Given the description of an element on the screen output the (x, y) to click on. 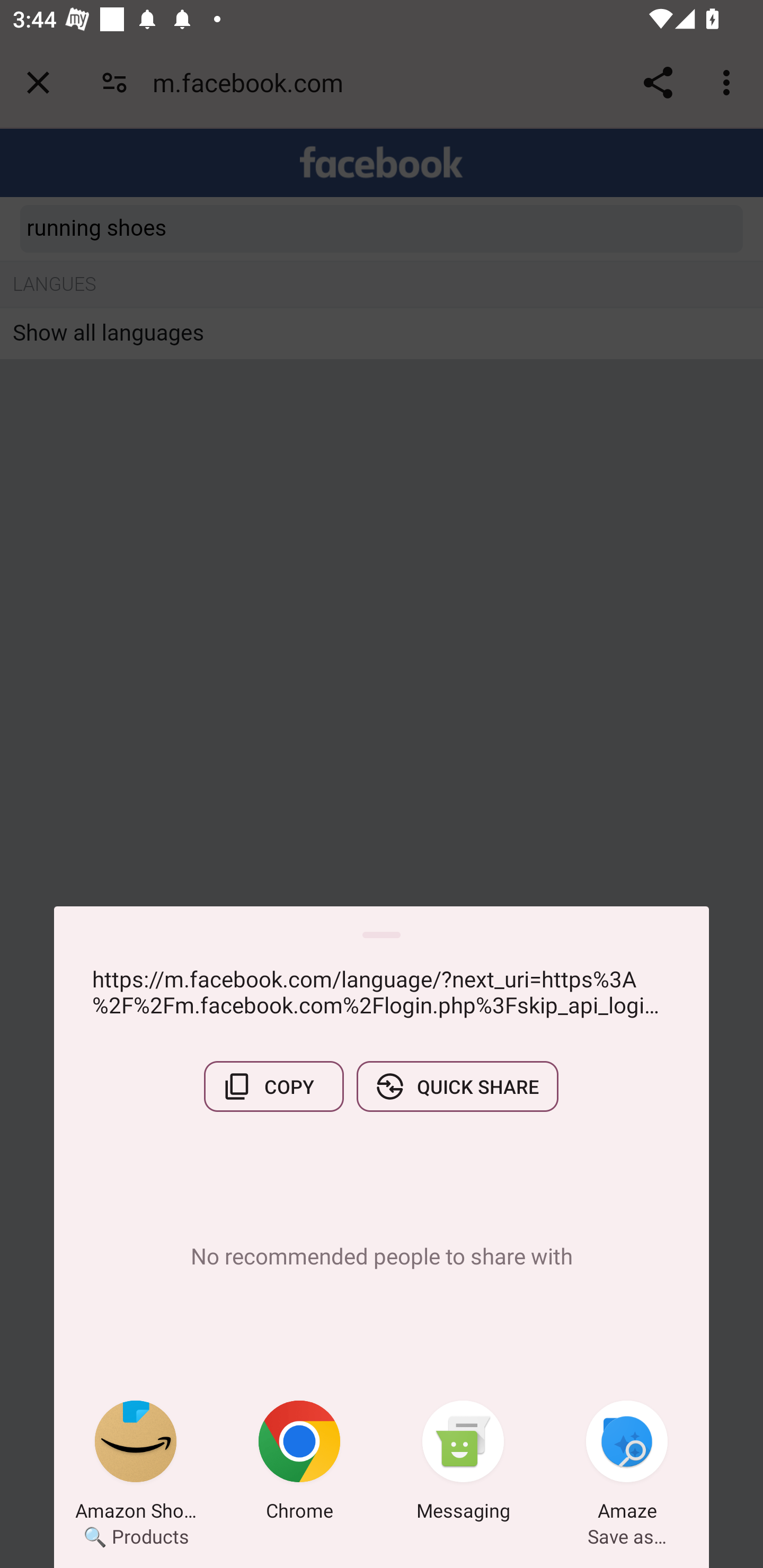
COPY (273, 1086)
QUICK SHARE (457, 1086)
Amazon Shopping 🔍 Products (135, 1463)
Chrome (299, 1463)
Messaging (463, 1463)
Amaze Save as… (626, 1463)
